Given the description of an element on the screen output the (x, y) to click on. 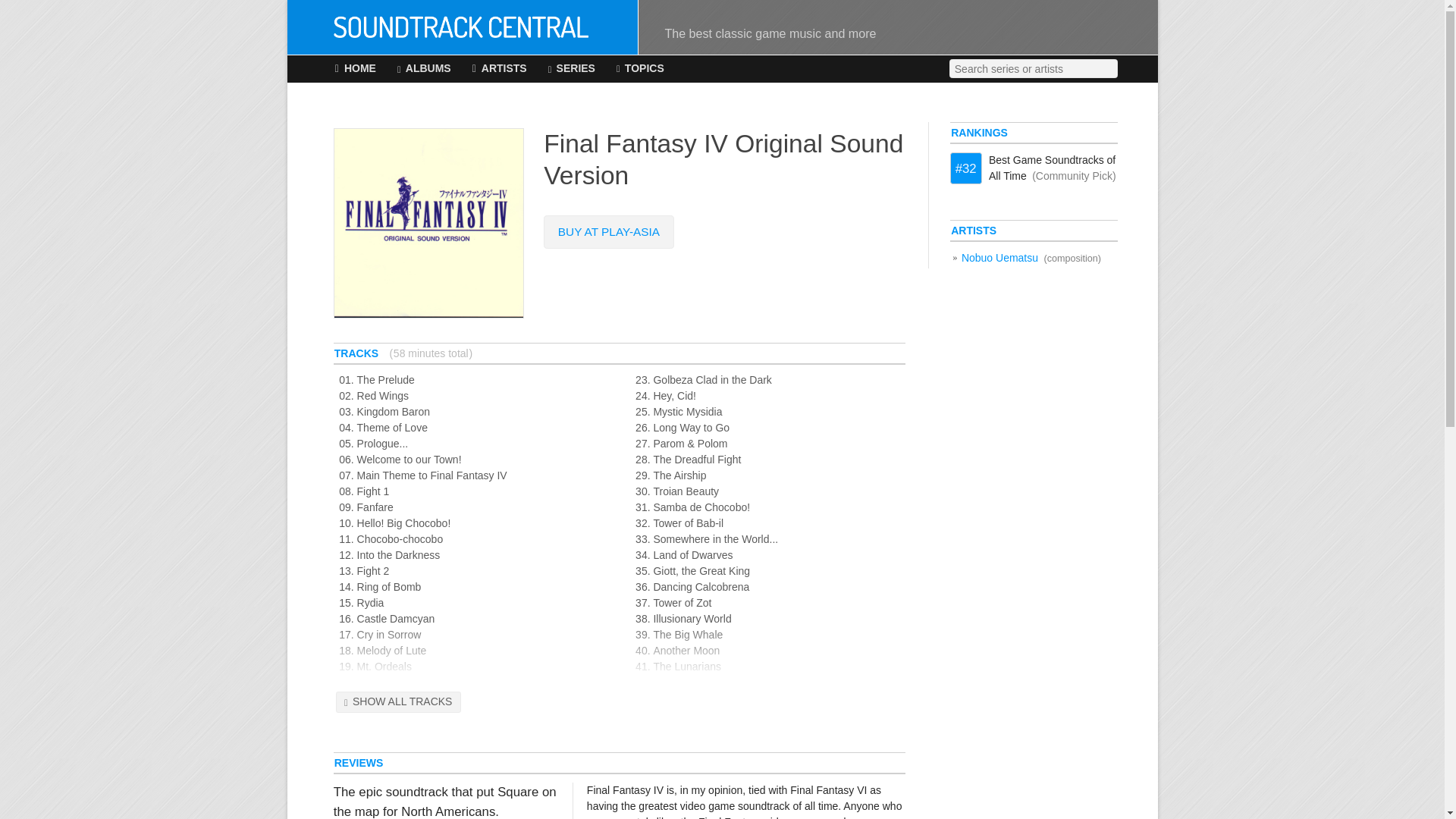
ARTISTS (499, 68)
HOME (354, 68)
ALBUMS (424, 68)
SERIES (571, 68)
TOPICS (639, 68)
